Given the description of an element on the screen output the (x, y) to click on. 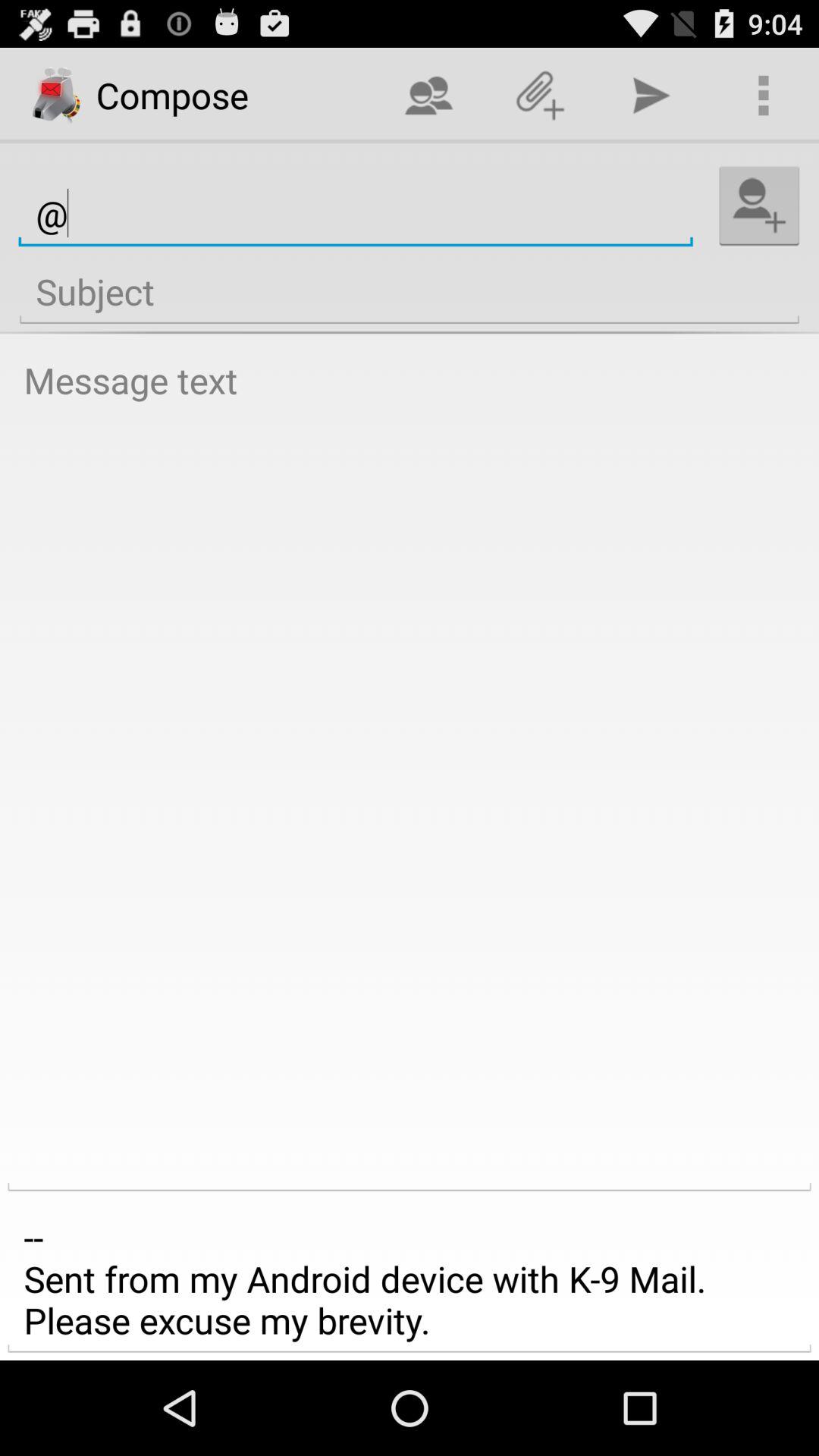
launch @ (355, 213)
